Given the description of an element on the screen output the (x, y) to click on. 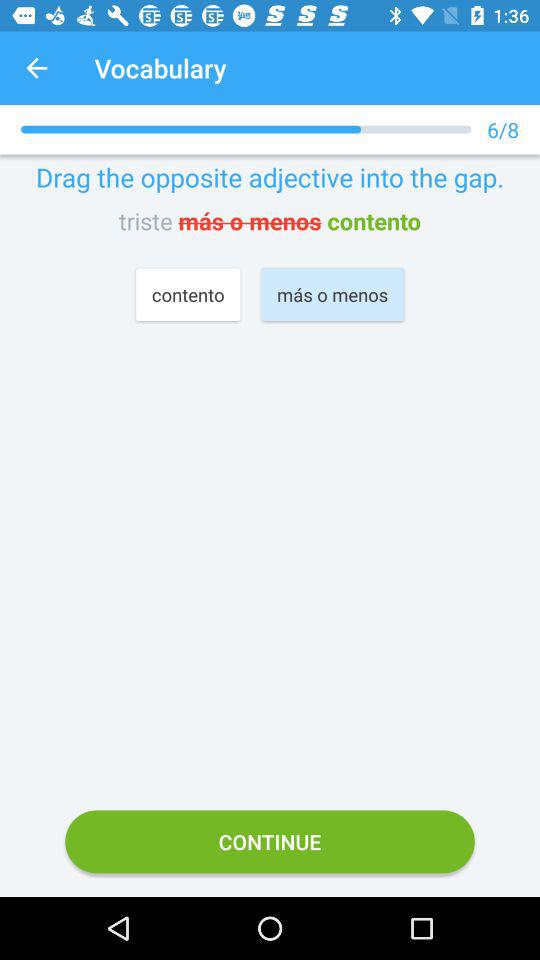
tap the icon to the left of vocabulary icon (36, 68)
